Given the description of an element on the screen output the (x, y) to click on. 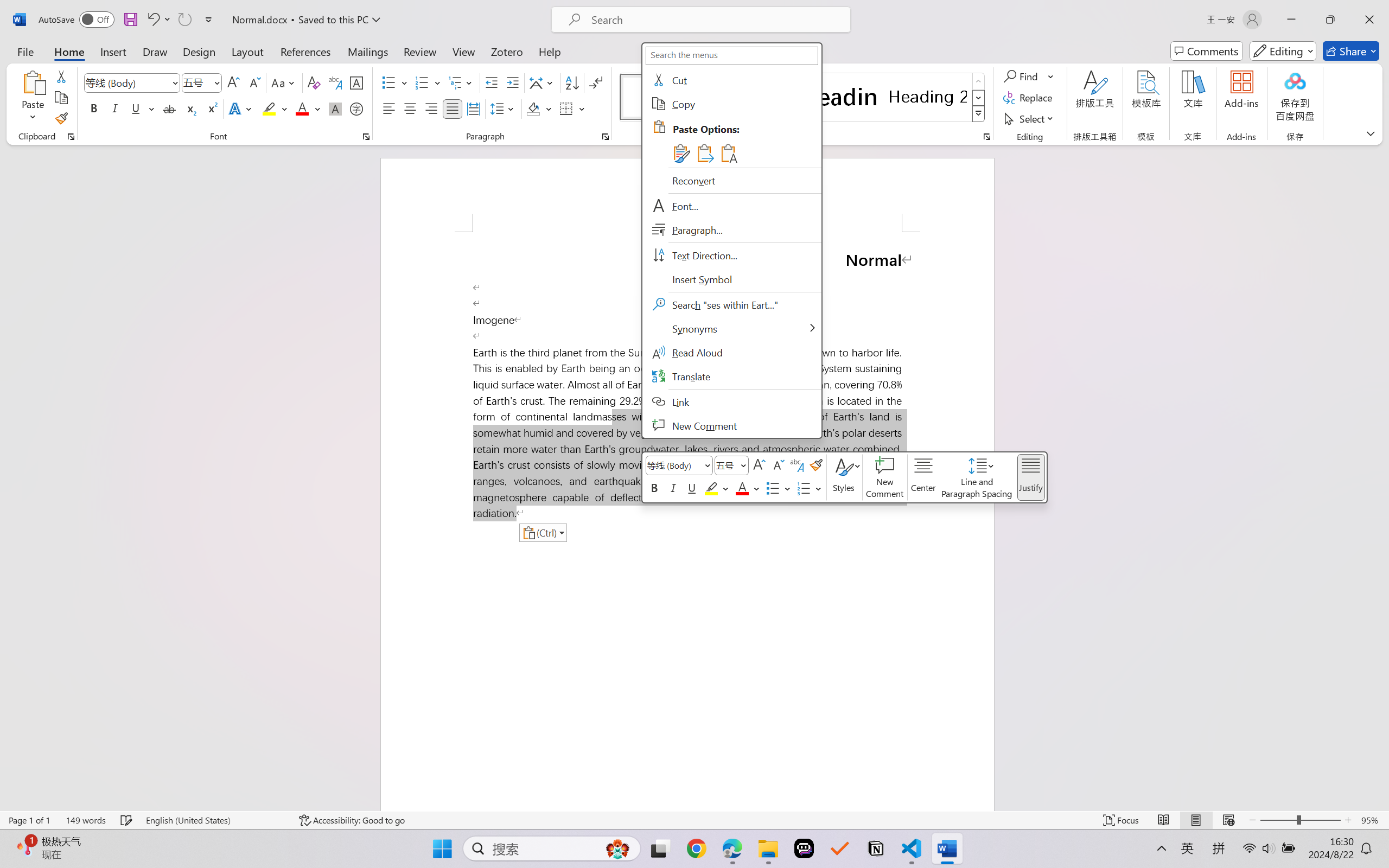
Read Aloud (730, 352)
Spelling and Grammar Check Checking (126, 819)
Font Color Red (302, 108)
Class: NetUITWMenuContainer (730, 240)
Multilevel List (461, 82)
Office Clipboard... (70, 136)
Asian Layout (542, 82)
